Given the description of an element on the screen output the (x, y) to click on. 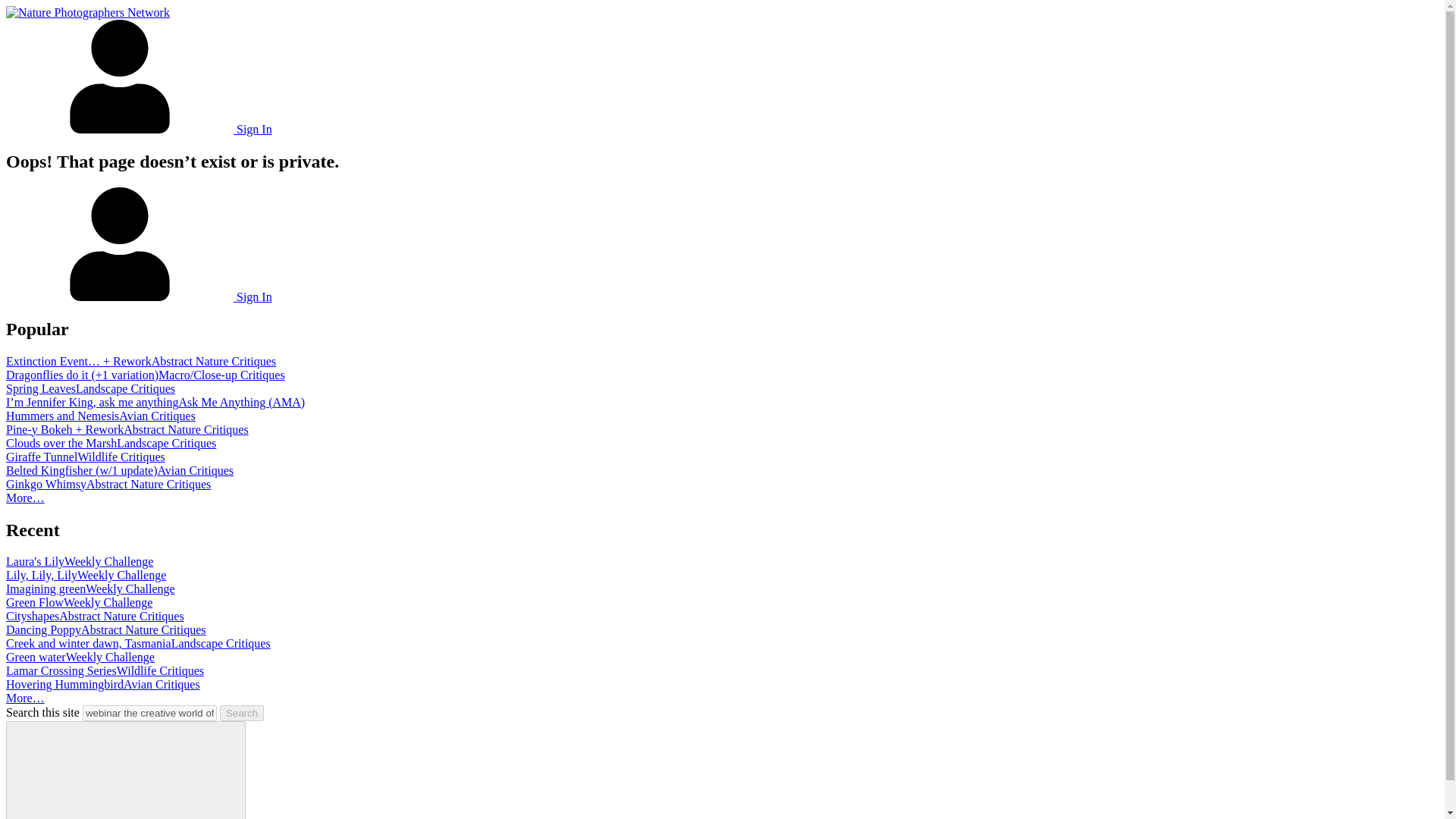
Landscape Critiques (220, 643)
Green Flow (34, 602)
Abstract Nature Critiques (213, 360)
Avian Critiques (195, 470)
Clouds over the Marsh (60, 442)
Laura's Lily (34, 561)
Green water (35, 656)
Ginkgo Whimsy (45, 483)
Abstract Nature Critiques (121, 615)
Avian Critiques (157, 415)
Dancing Poppy (43, 629)
Cityshapes (32, 615)
Wildlife Critiques (120, 456)
Lily, Lily, Lily (41, 574)
